Given the description of an element on the screen output the (x, y) to click on. 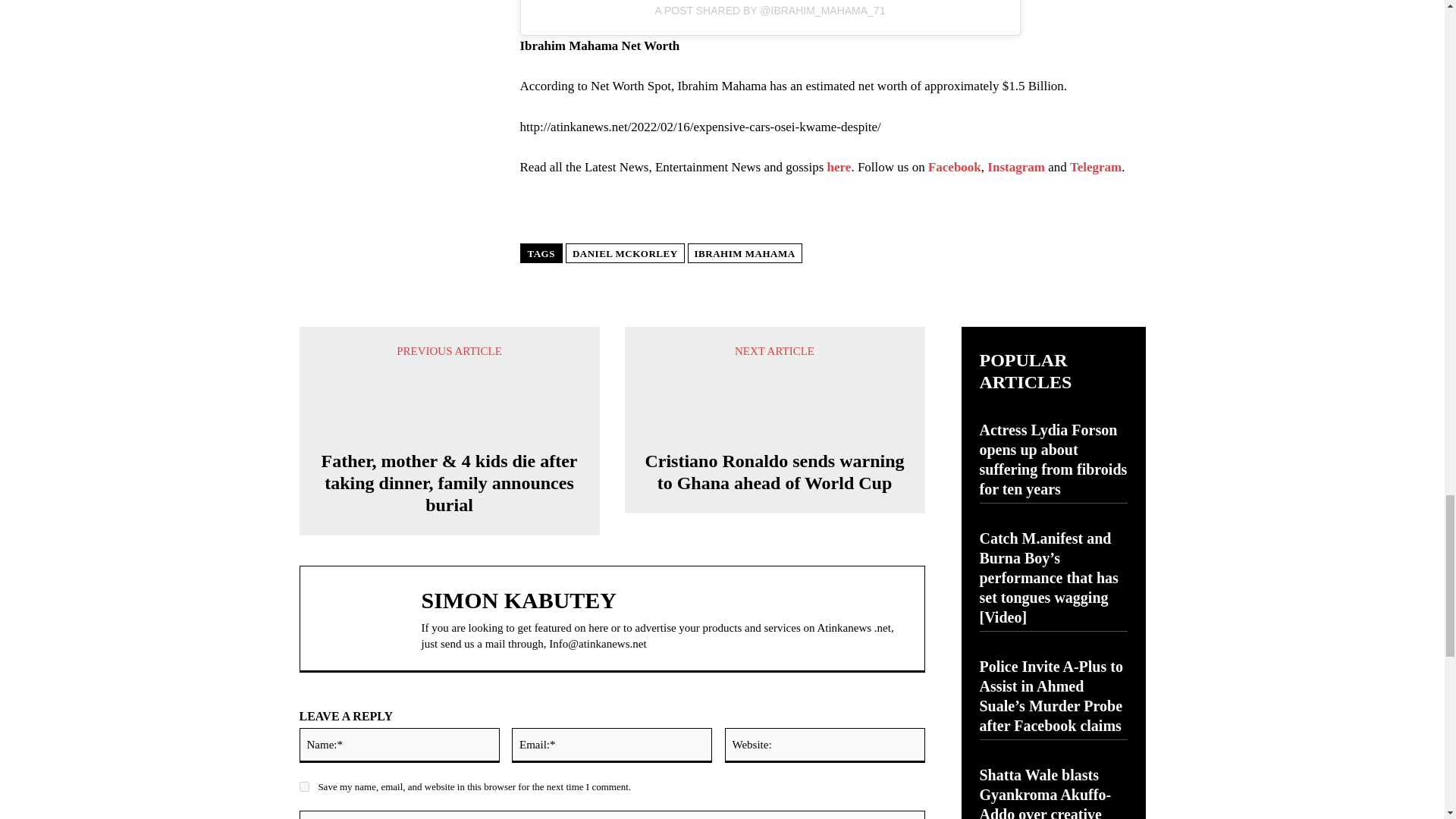
yes (303, 786)
